Given the description of an element on the screen output the (x, y) to click on. 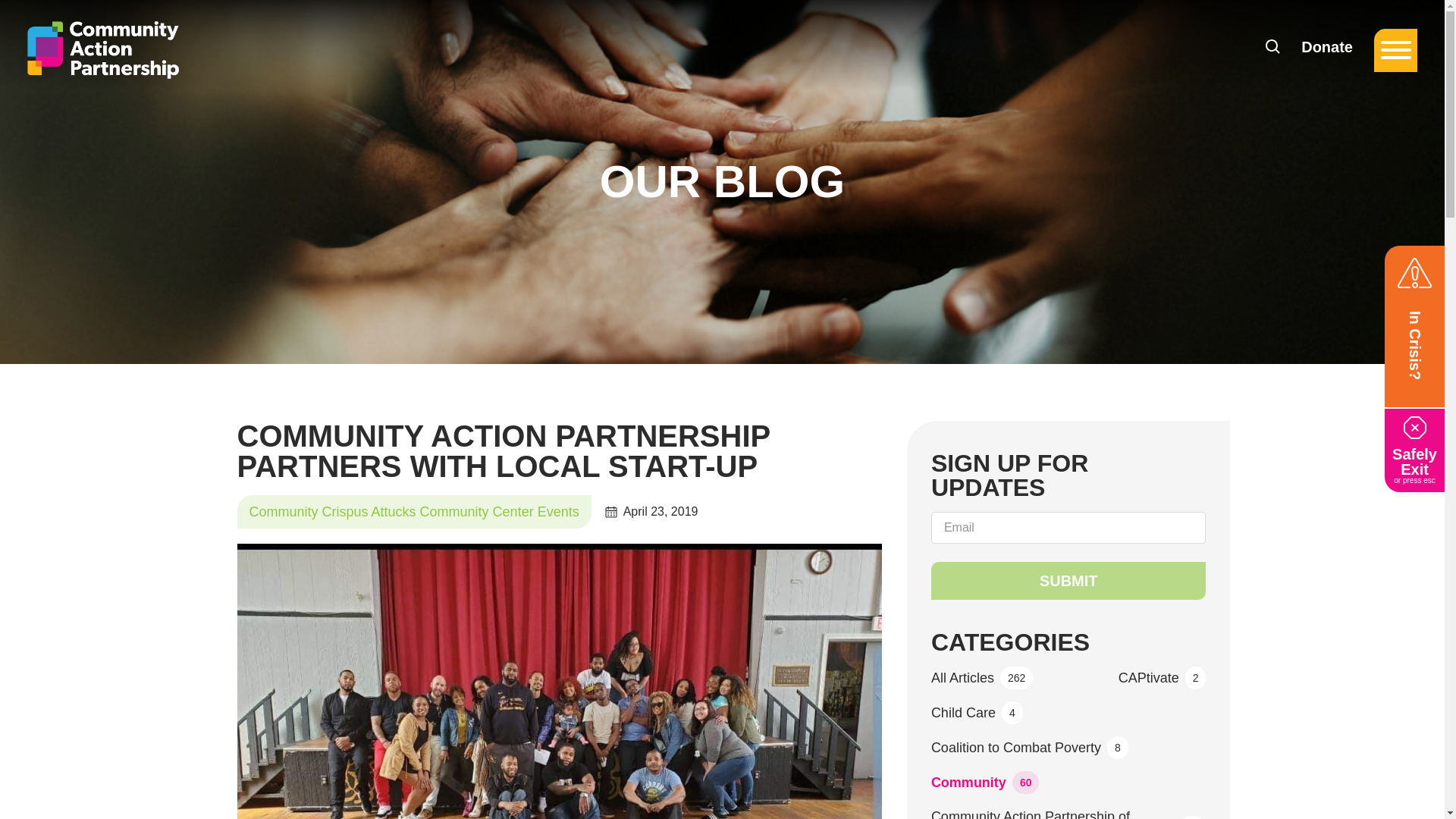
Donate (1326, 46)
Submit (1069, 580)
